Given the description of an element on the screen output the (x, y) to click on. 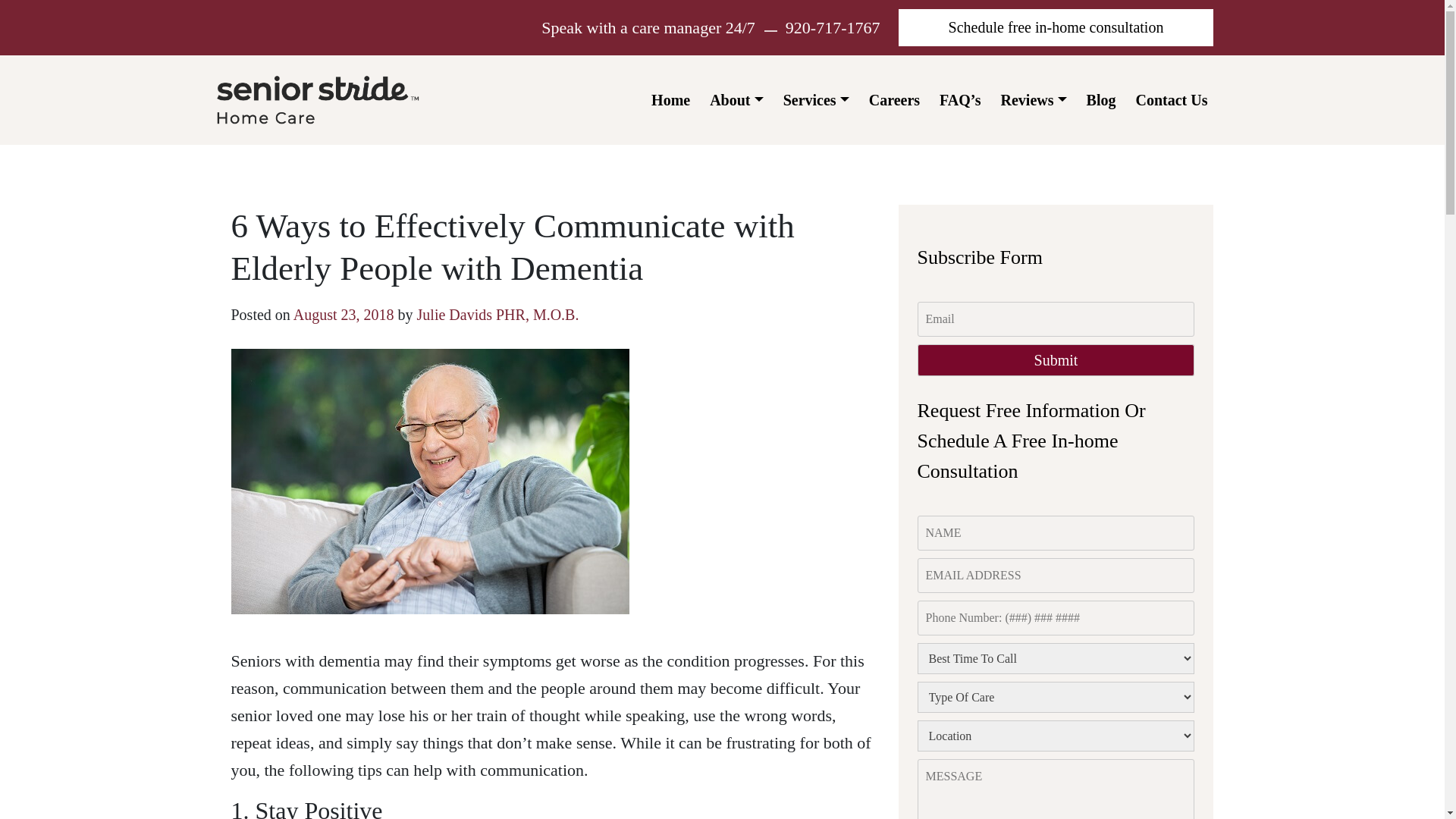
Julie Davids PHR, M.O.B. (497, 314)
About (735, 99)
Careers (894, 99)
Services (816, 99)
Blog (1101, 99)
Submit (1056, 359)
Home (670, 99)
Submit (1056, 359)
August 23, 2018 (344, 314)
Reviews (1033, 99)
Contact Us (1171, 99)
Schedule free in-home consultation (1055, 27)
